Given the description of an element on the screen output the (x, y) to click on. 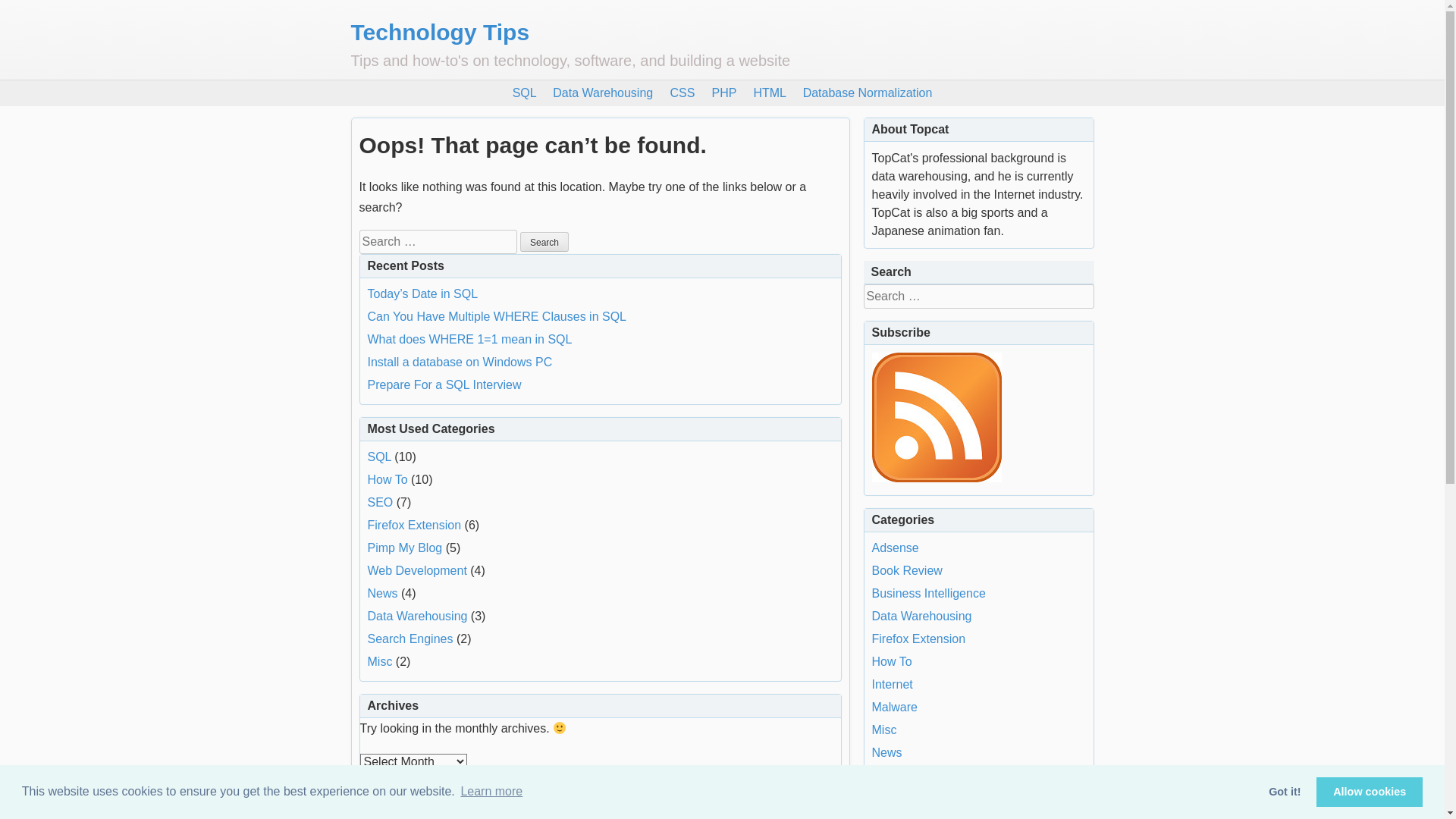
Database Normalization Element type: text (867, 92)
Install a database on Windows PC Element type: text (459, 361)
What does WHERE 1=1 mean in SQL Element type: text (469, 338)
Data Warehousing Element type: text (922, 615)
Internet Element type: text (892, 683)
Malware Element type: text (894, 706)
SQL Element type: text (524, 92)
Misc Element type: text (884, 729)
How To Element type: text (892, 661)
Got it! Element type: text (1284, 791)
How To Element type: text (387, 479)
Adsense Element type: text (895, 547)
Prepare For a SQL Interview Element type: text (443, 384)
Learn more Element type: text (491, 791)
CSS Element type: text (681, 92)
Data Warehousing Element type: text (417, 615)
HTML Element type: text (769, 92)
News Element type: text (382, 592)
PHP Element type: text (724, 92)
Web Development Element type: text (416, 570)
Technology Tips Element type: text (439, 31)
SEO Element type: text (379, 501)
Search Engines Element type: text (914, 797)
Search Element type: text (24, 9)
Can You Have Multiple WHERE Clauses in SQL Element type: text (496, 316)
Misc Element type: text (379, 661)
Pimp My Blog Element type: text (404, 547)
Search Engines Element type: text (409, 638)
Business Intelligence Element type: text (928, 592)
Firefox Extension Element type: text (414, 524)
Search Element type: text (544, 241)
Book Review Element type: text (907, 570)
Allow cookies Element type: text (1369, 791)
SQL Element type: text (378, 456)
Data Warehousing Element type: text (602, 92)
News Element type: text (887, 752)
Pimp My Blog Element type: text (909, 774)
Firefox Extension Element type: text (919, 638)
